Given the description of an element on the screen output the (x, y) to click on. 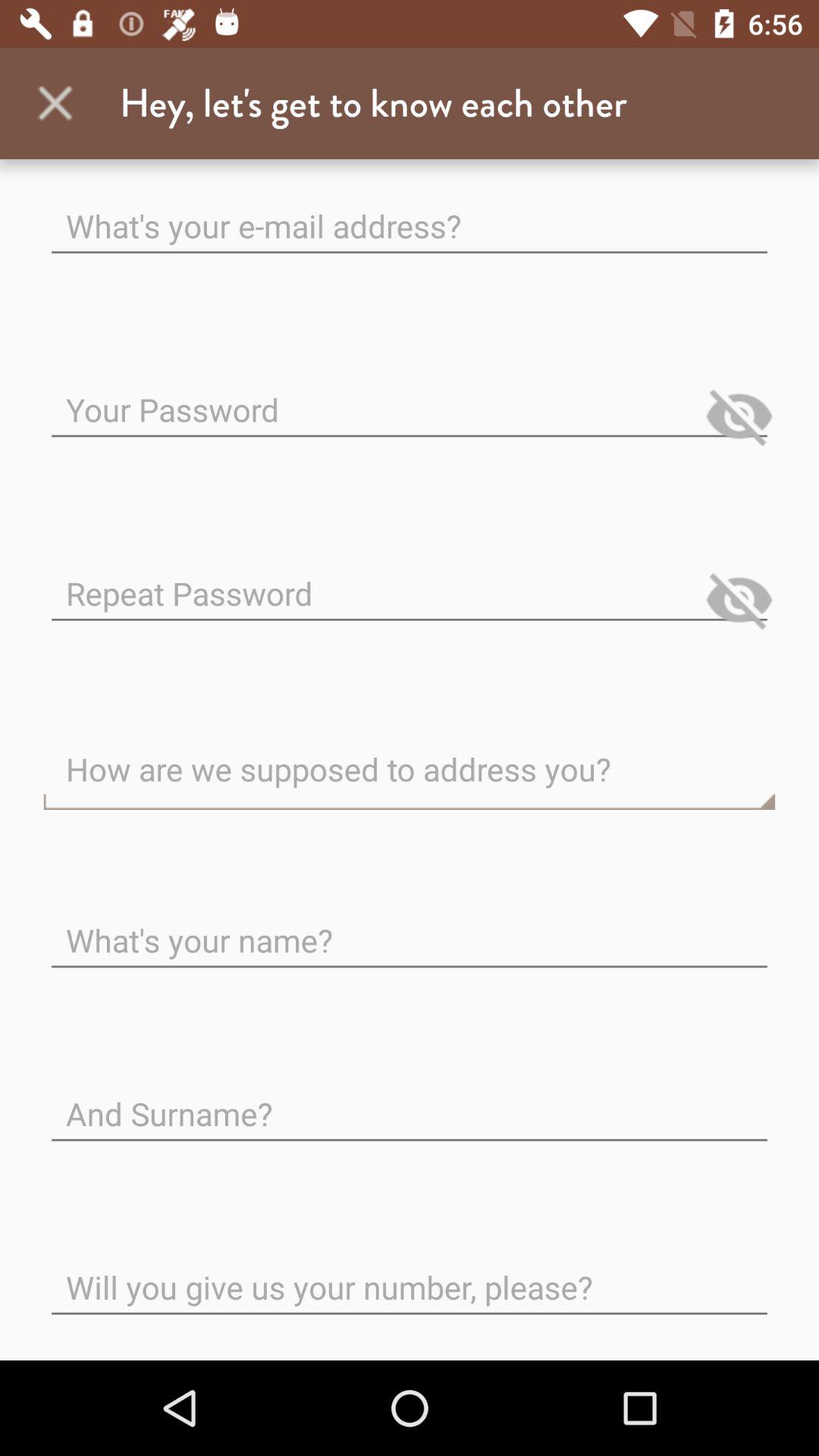
input phone number (409, 1275)
